Given the description of an element on the screen output the (x, y) to click on. 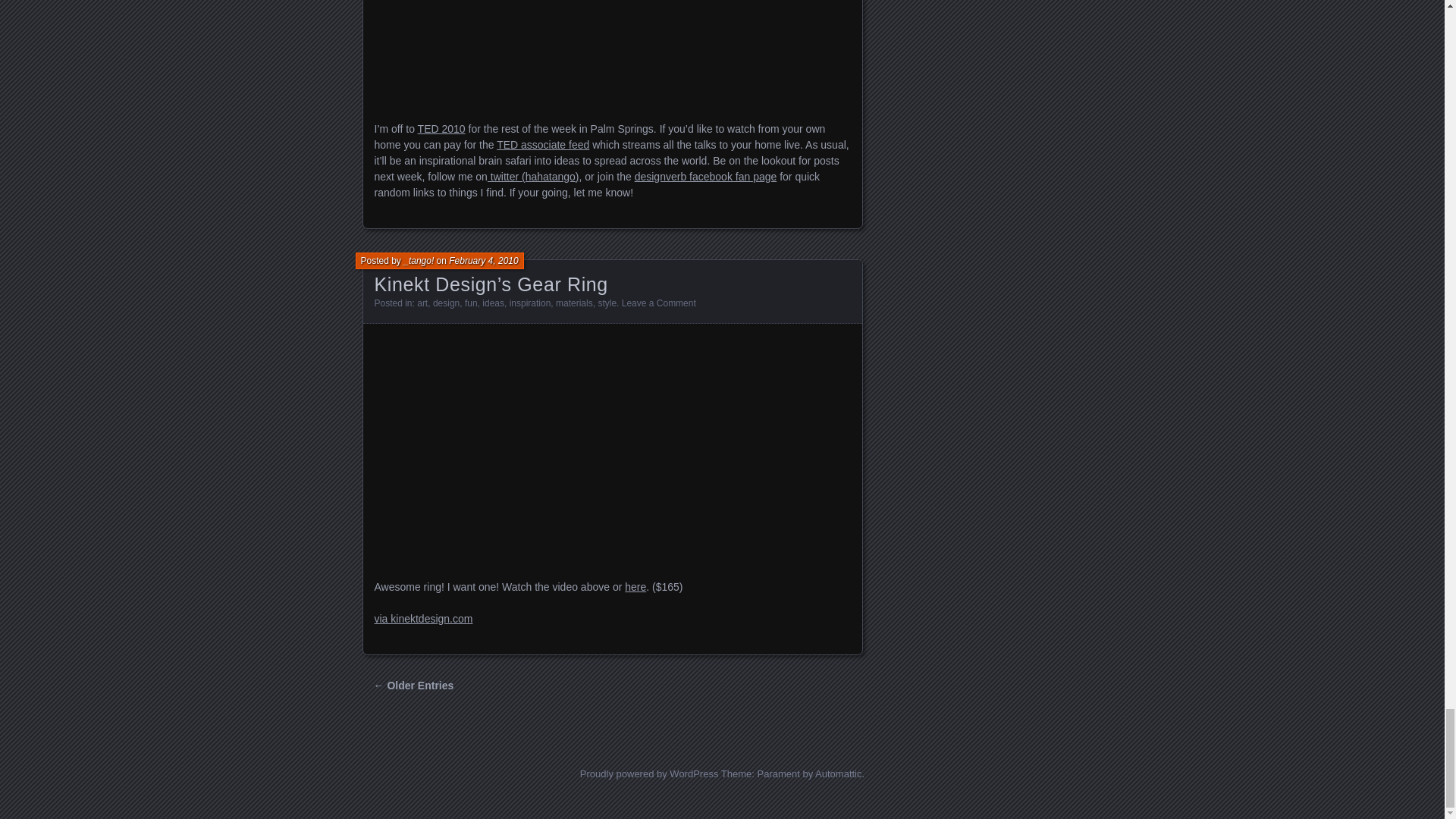
ted.2010 (612, 52)
